Given the description of an element on the screen output the (x, y) to click on. 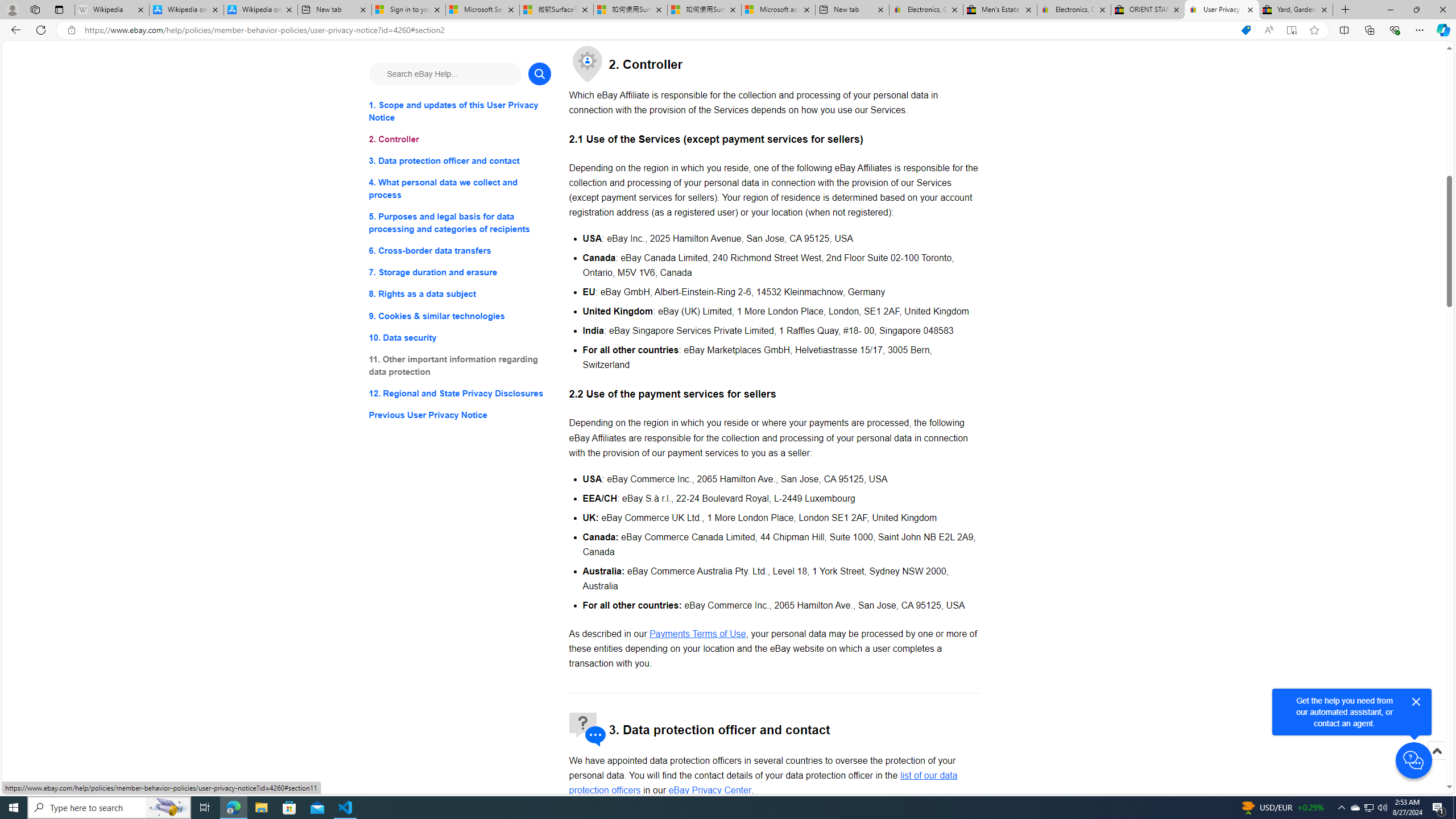
Scroll to top (1435, 762)
Payments Terms of Use - opens in new window or tab (697, 633)
